Given the description of an element on the screen output the (x, y) to click on. 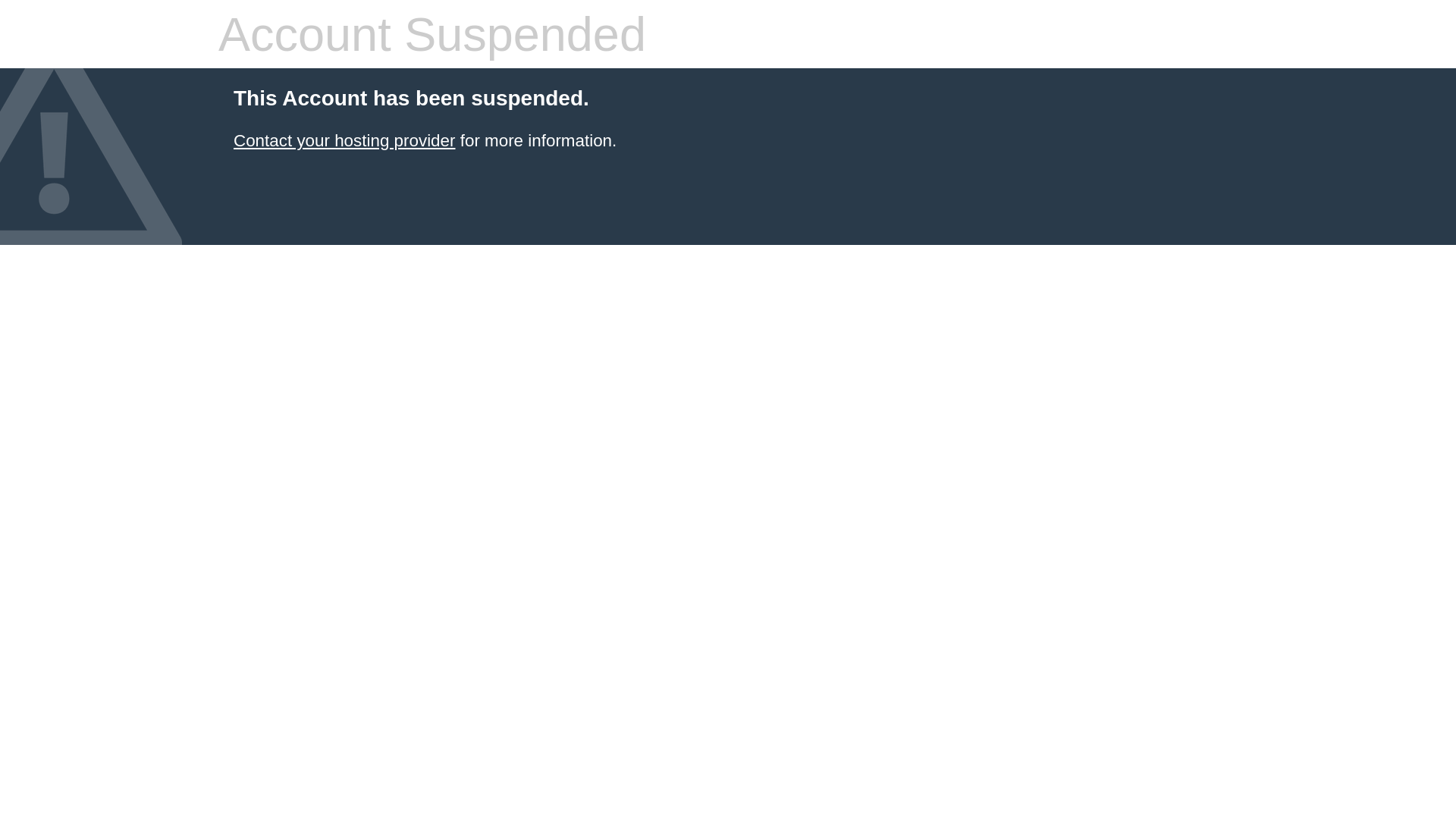
Contact your hosting provider Element type: text (344, 140)
